Given the description of an element on the screen output the (x, y) to click on. 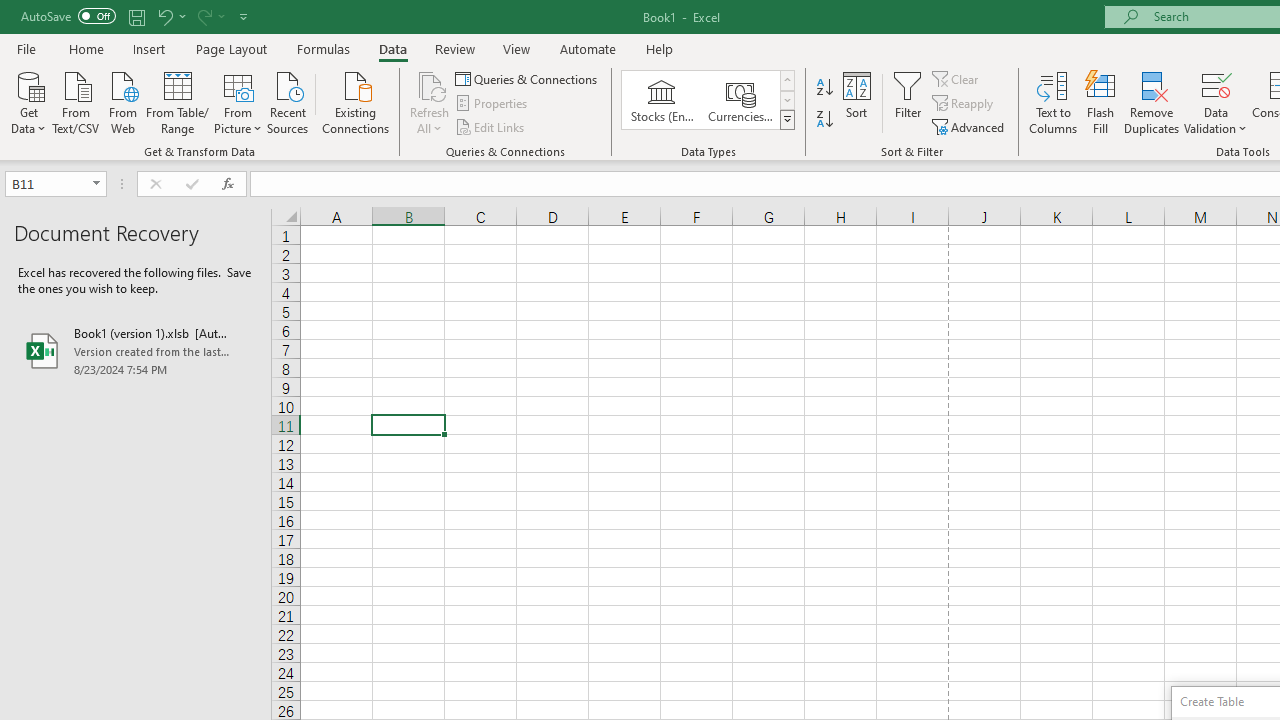
Data Validation... (1215, 102)
Remove Duplicates (1151, 102)
Recent Sources (287, 101)
Data Validation... (1215, 84)
Edit Links (491, 126)
Refresh All (429, 102)
Book1 (version 1).xlsb  [AutoRecovered] (136, 350)
Advanced... (970, 126)
Clear (957, 78)
From Text/CSV (75, 101)
Filter (908, 102)
Flash Fill (1101, 102)
